Given the description of an element on the screen output the (x, y) to click on. 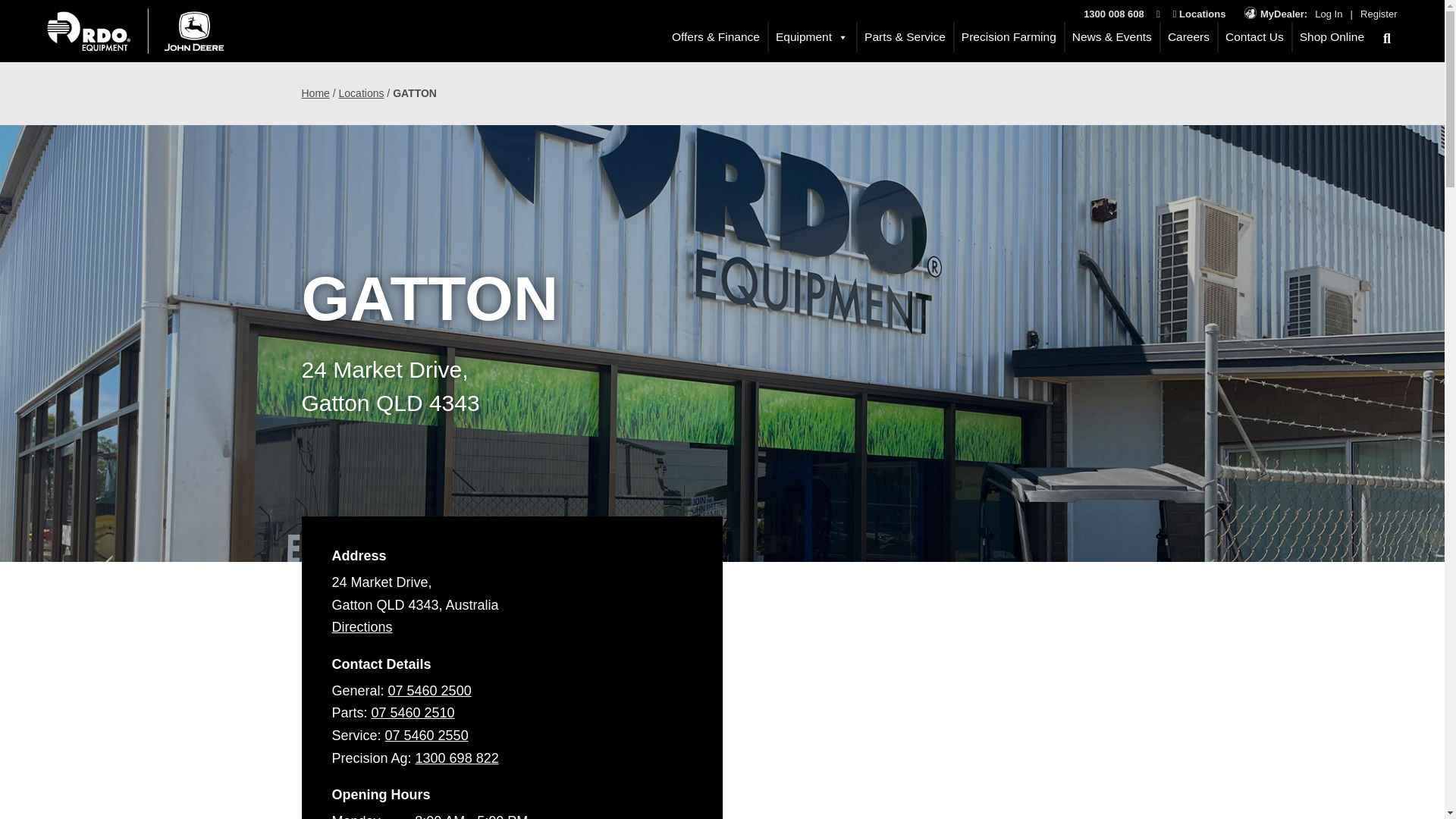
Current deals available from RDO Equipment (711, 37)
Register (1377, 13)
1300 008 608 (1113, 13)
Log In (1328, 13)
Locations (1199, 13)
Equipment (808, 37)
